Given the description of an element on the screen output the (x, y) to click on. 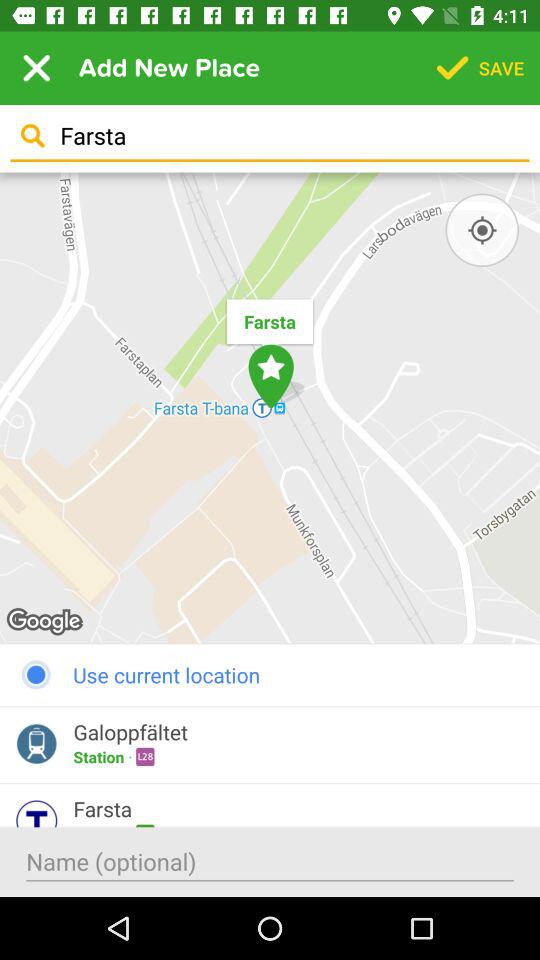
click icon above the use current location icon (270, 407)
